Given the description of an element on the screen output the (x, y) to click on. 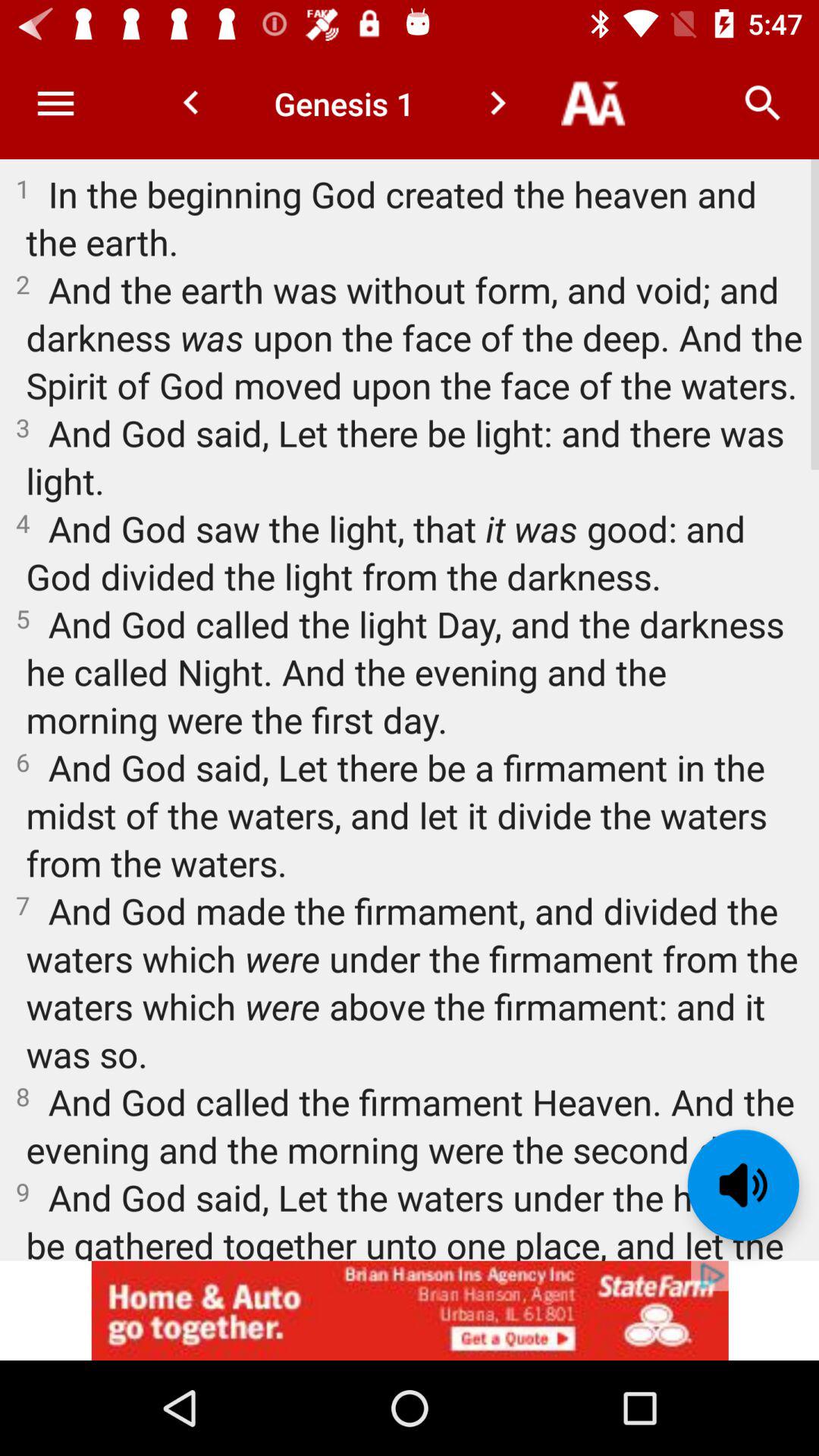
play audio (743, 1185)
